Given the description of an element on the screen output the (x, y) to click on. 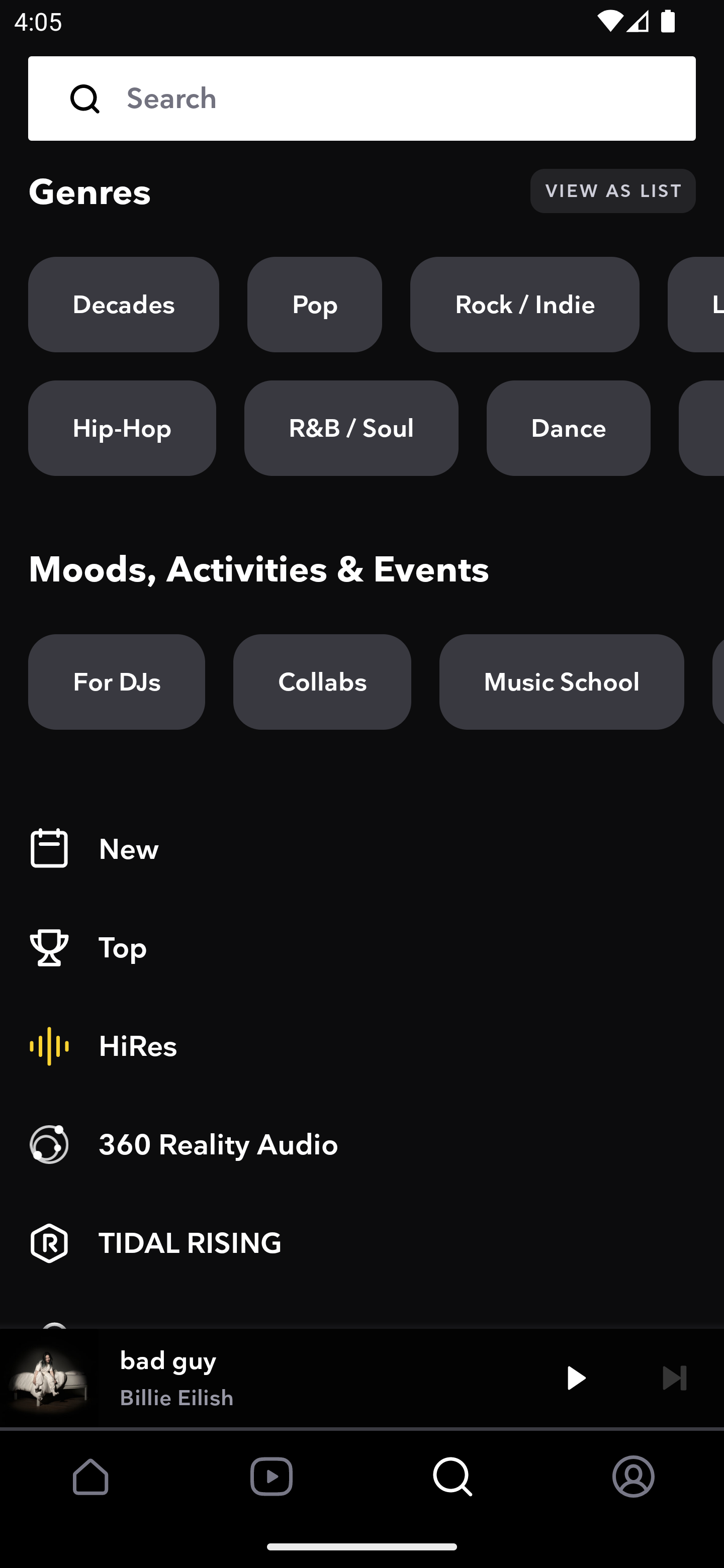
Search (361, 98)
Search (397, 98)
VIEW AS LIST (612, 191)
Decades (123, 304)
Pop (314, 304)
Rock / Indie (524, 304)
Hip-Hop (122, 428)
R&B / Soul (351, 428)
Dance (568, 428)
For DJs (116, 681)
Collabs (322, 681)
Music School (561, 681)
New (362, 848)
Top (362, 947)
HiRes (362, 1046)
360 Reality Audio (362, 1145)
TIDAL RISING (362, 1243)
bad guy Billie Eilish Play (362, 1377)
Play (576, 1377)
